Given the description of an element on the screen output the (x, y) to click on. 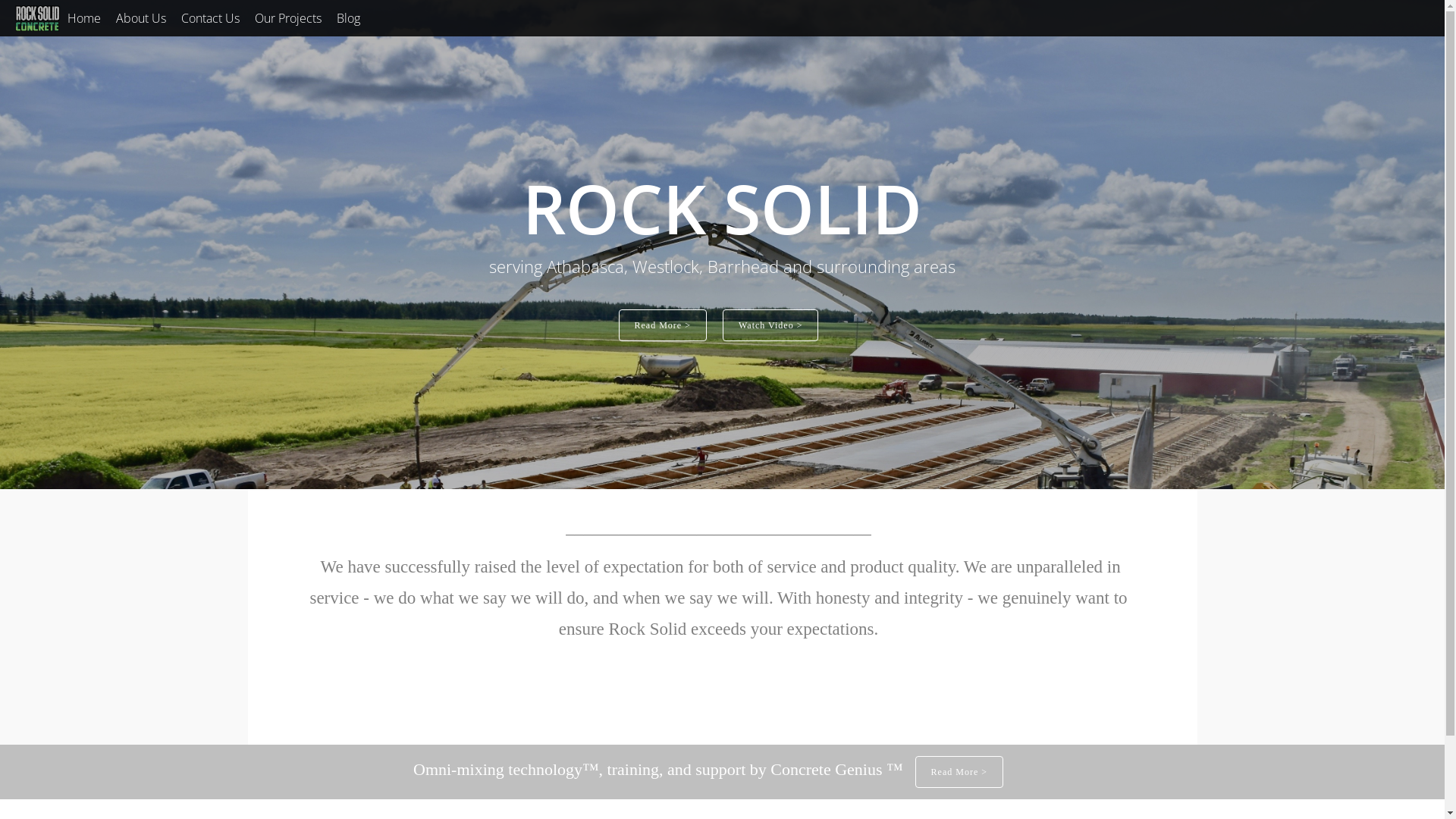
About Us Element type: text (140, 18)
Read More > Element type: text (959, 771)
Home Element type: text (83, 18)
Read More > Element type: text (662, 325)
Our Projects Element type: text (288, 18)
Contact Us Element type: text (210, 18)
Blog Element type: text (348, 18)
Watch Video > Element type: text (770, 325)
